Given the description of an element on the screen output the (x, y) to click on. 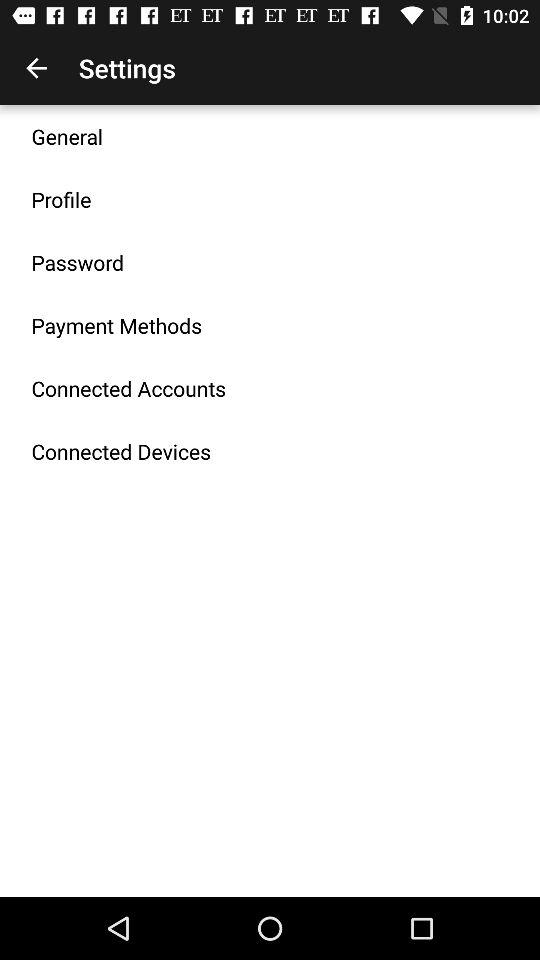
launch item above profile (67, 136)
